Given the description of an element on the screen output the (x, y) to click on. 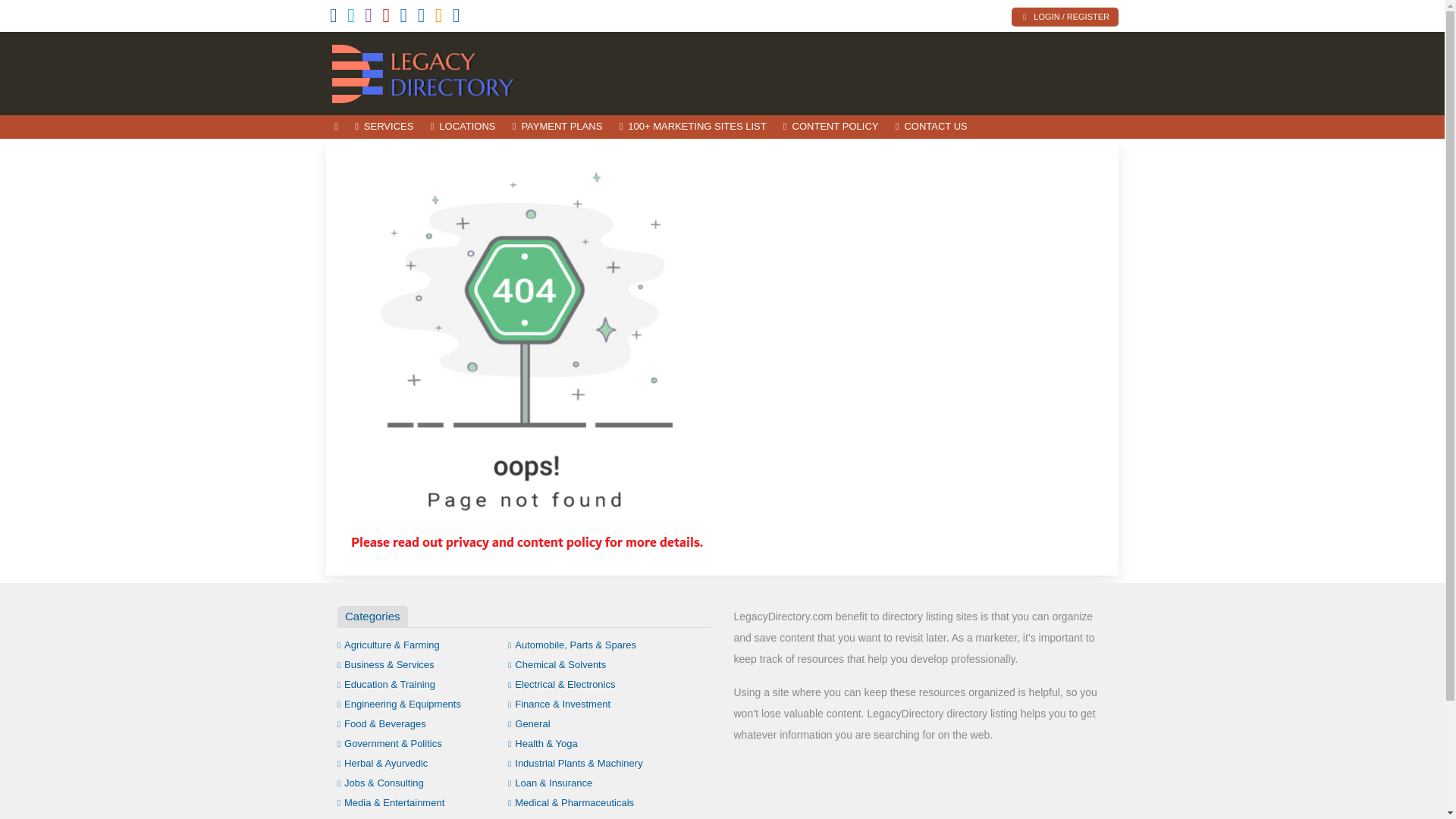
CONTENT POLICY (830, 126)
LOCATIONS (462, 126)
PAYMENT PLANS (557, 126)
SERVICES (384, 126)
CONTACT US (930, 126)
General (529, 723)
